Given the description of an element on the screen output the (x, y) to click on. 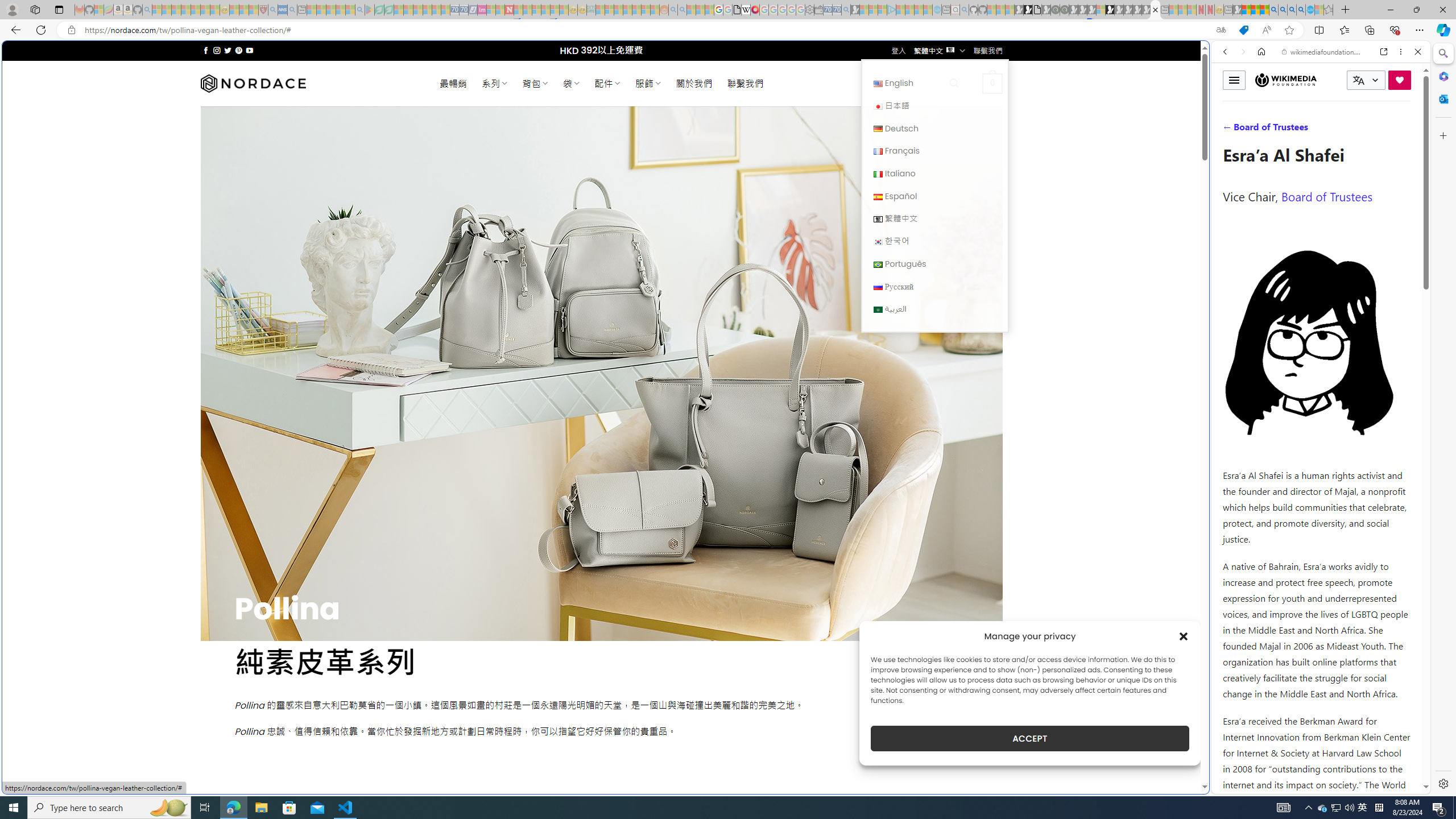
Future Focus Report 2024 - Sleeping (1064, 9)
 Deutsch (934, 128)
Search or enter web address (922, 108)
